Given the description of an element on the screen output the (x, y) to click on. 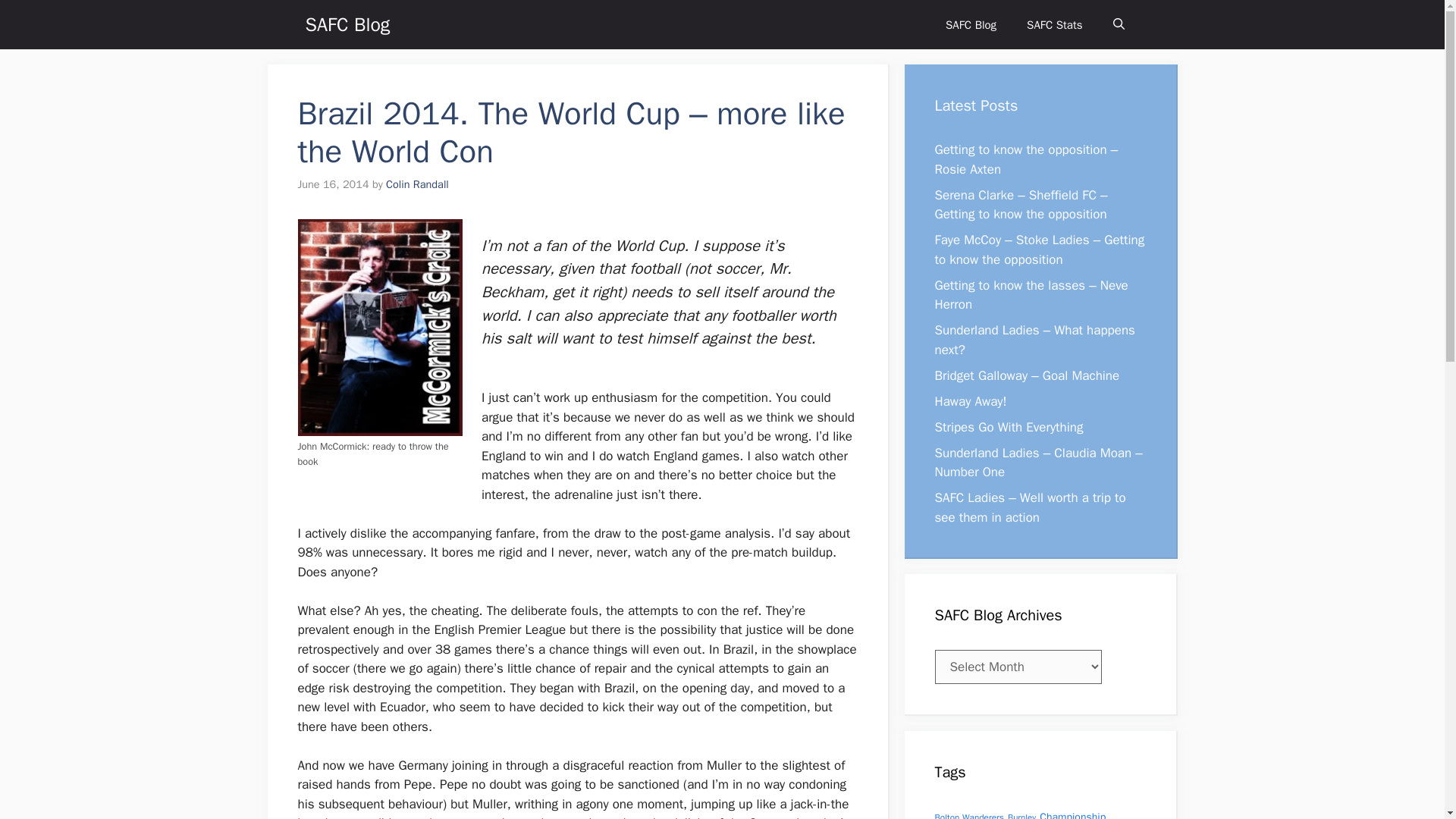
Haway Away! (970, 400)
Burnley (1021, 815)
Stripes Go With Everything (1008, 426)
SAFC Stats (1054, 23)
SAFC Blog (347, 24)
View all posts by Colin Randall (416, 183)
Bolton Wanderers (968, 815)
Championship (1072, 814)
Colin Randall (416, 183)
SAFC Blog (970, 23)
